Given the description of an element on the screen output the (x, y) to click on. 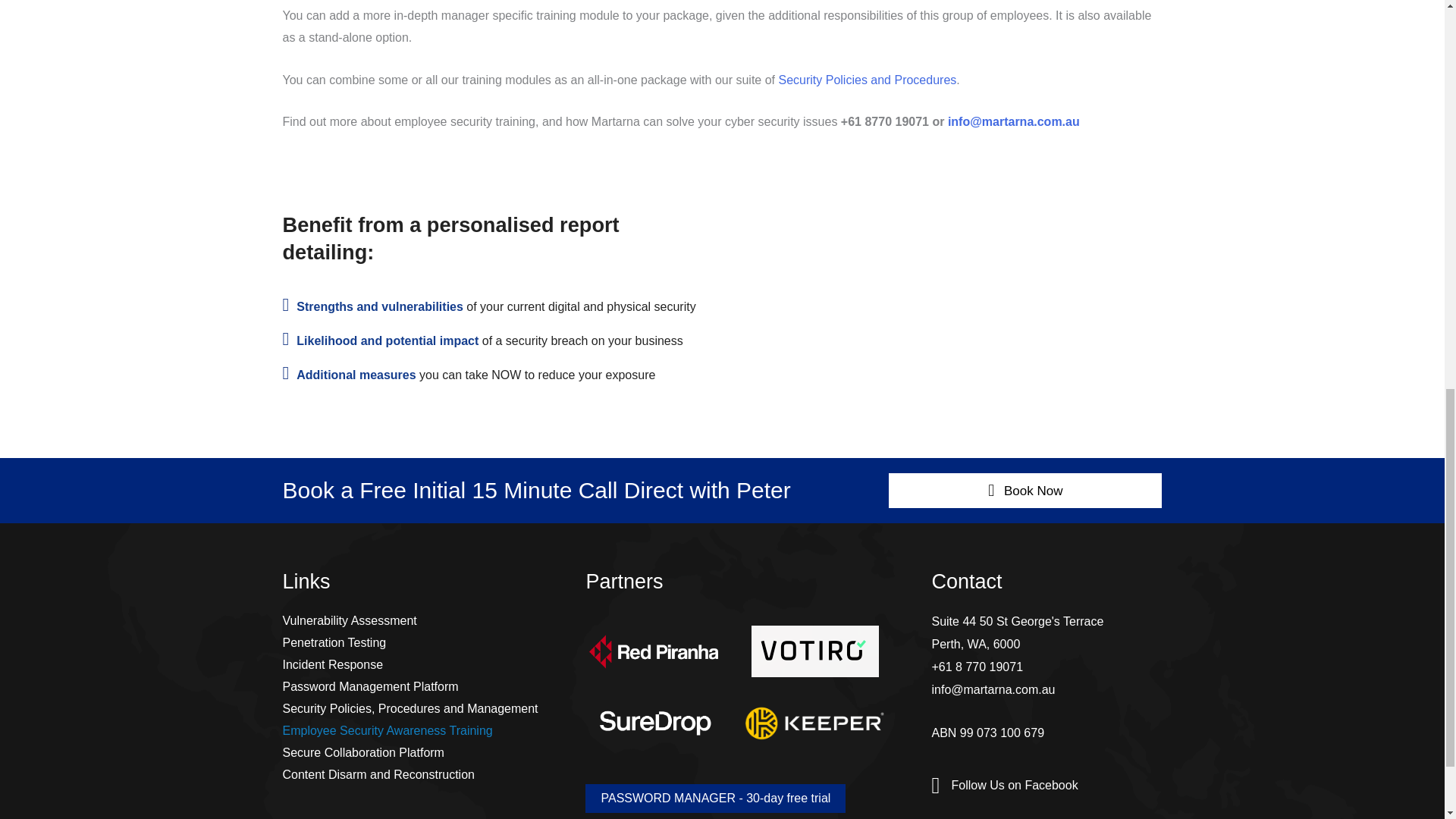
Security Policies, Procedures and Management (414, 708)
Secure Collaboration Platform (414, 752)
Password Management Platform (414, 686)
Follow Us on Facebook (1013, 784)
Incident Response (414, 664)
Book a Free Initial 15 Minute Call Direct with Peter (536, 489)
Penetration Testing (414, 642)
Vulnerability Assessment (414, 620)
Book a Free Initial 15 Minute Call Direct with Peter (536, 489)
Content Disarm and Reconstruction (414, 774)
